Given the description of an element on the screen output the (x, y) to click on. 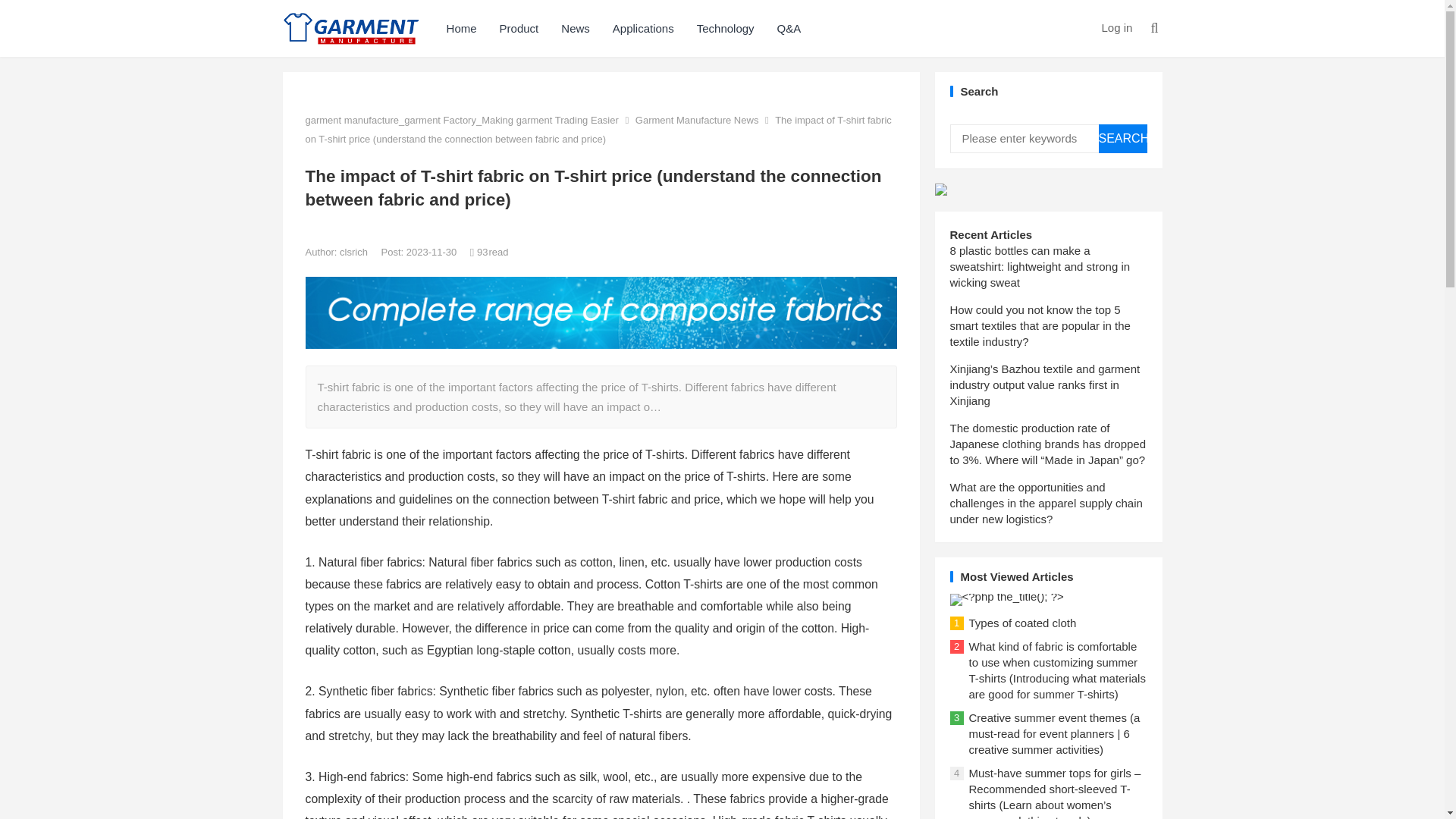
Log in (1116, 27)
Home (461, 28)
Applications (643, 28)
clsrich (354, 251)
Product (518, 28)
Technology (725, 28)
SEARCH (1122, 138)
Log in (1116, 27)
News (575, 28)
Garment Manufacture News (696, 119)
